Given the description of an element on the screen output the (x, y) to click on. 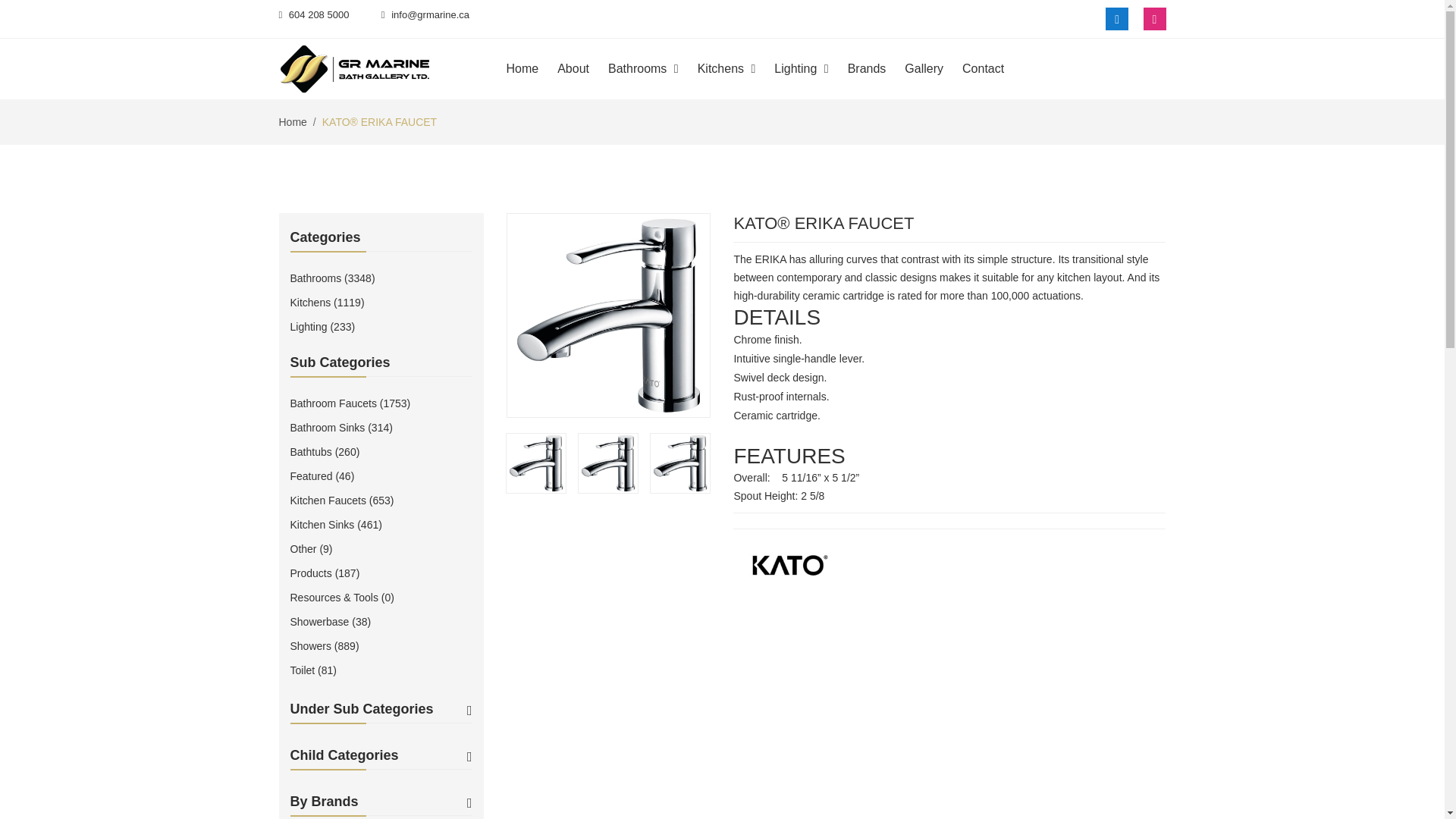
604 208 5000 (314, 14)
Home (530, 68)
Bathrooms (651, 68)
About (580, 68)
